Given the description of an element on the screen output the (x, y) to click on. 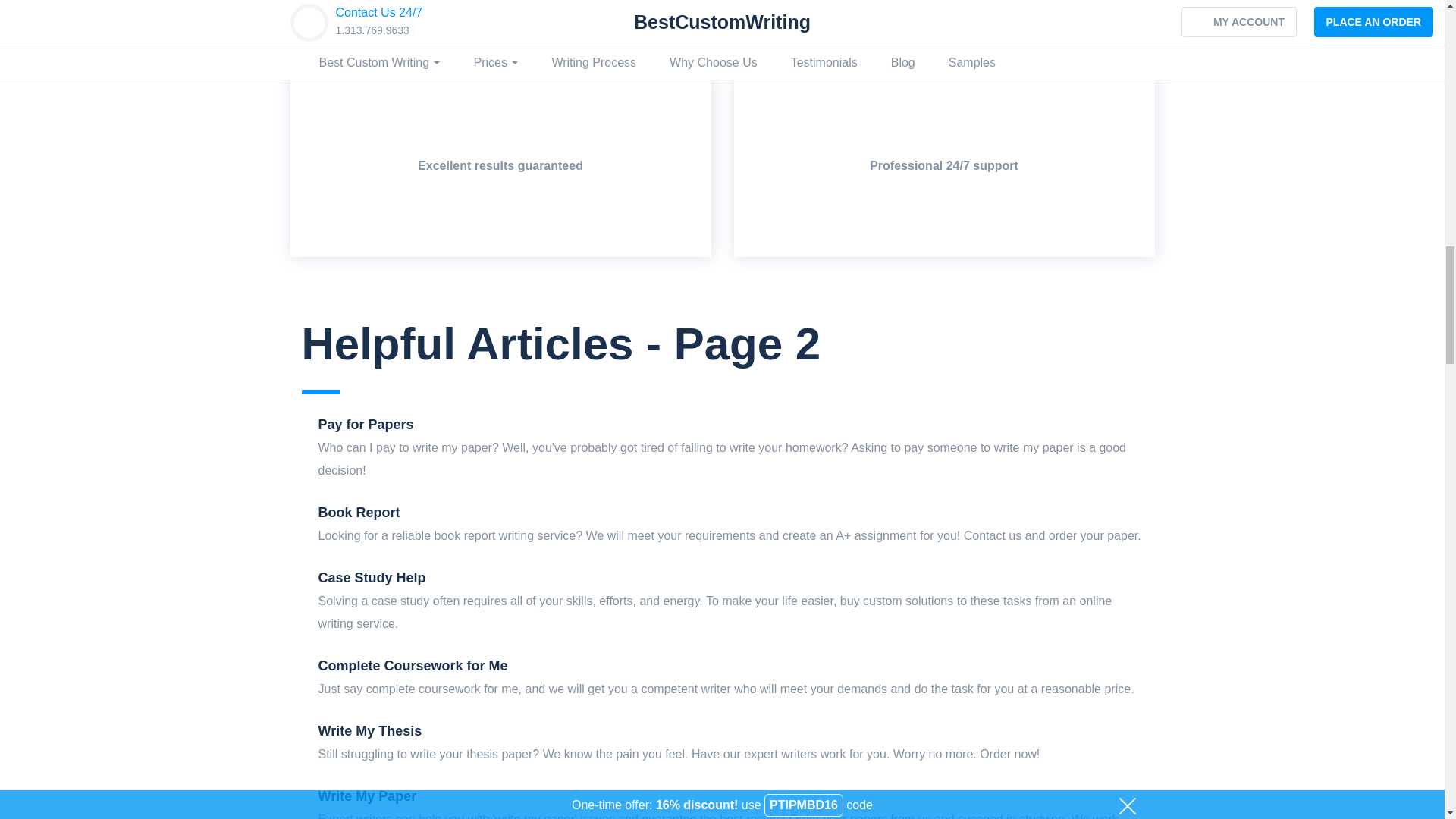
Complete Coursework for Me (413, 665)
Write My Paper (367, 795)
Pay for Papers (365, 424)
Write My Thesis (370, 730)
Book Report (359, 512)
